Given the description of an element on the screen output the (x, y) to click on. 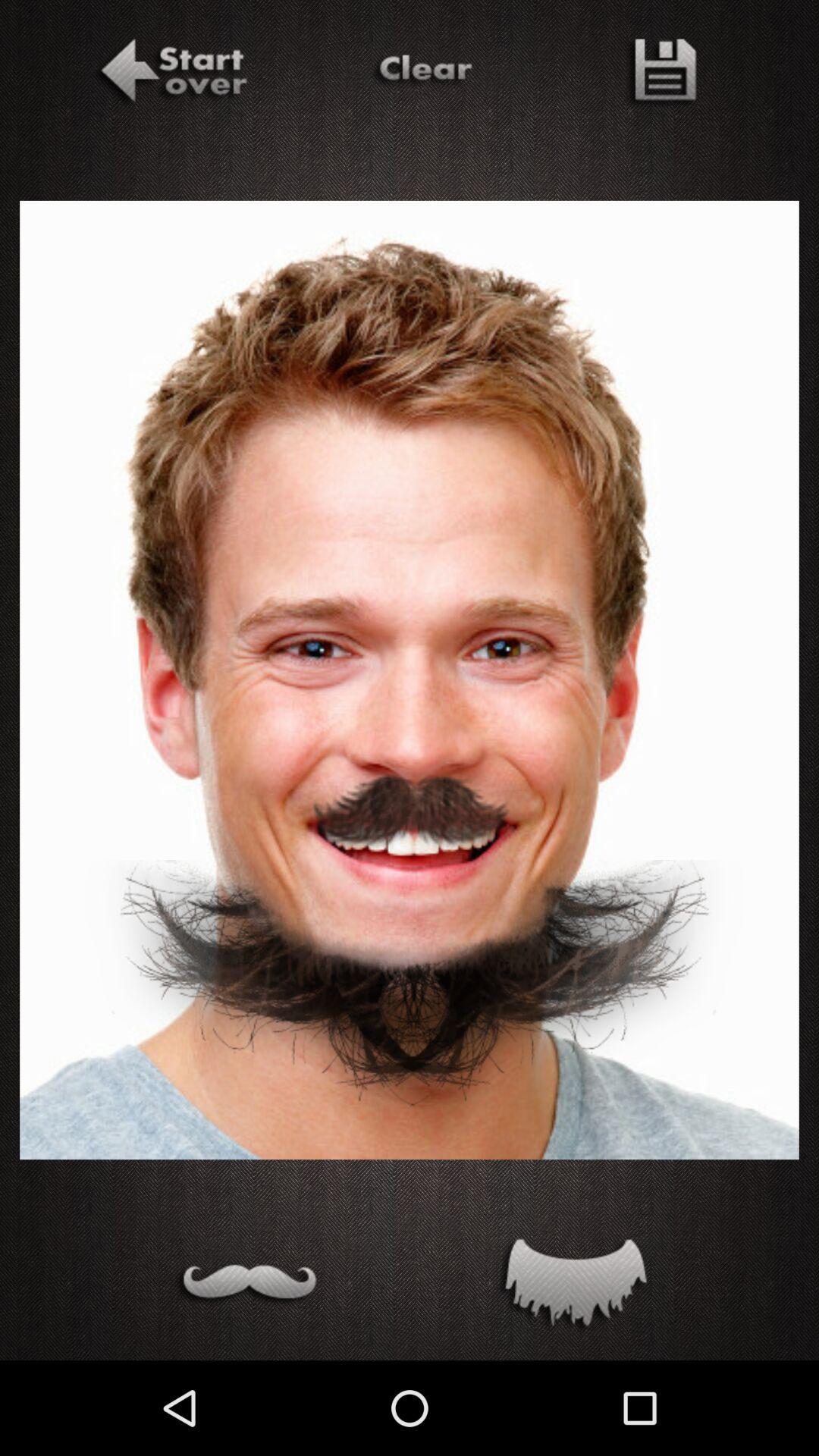
save the file (660, 73)
